Given the description of an element on the screen output the (x, y) to click on. 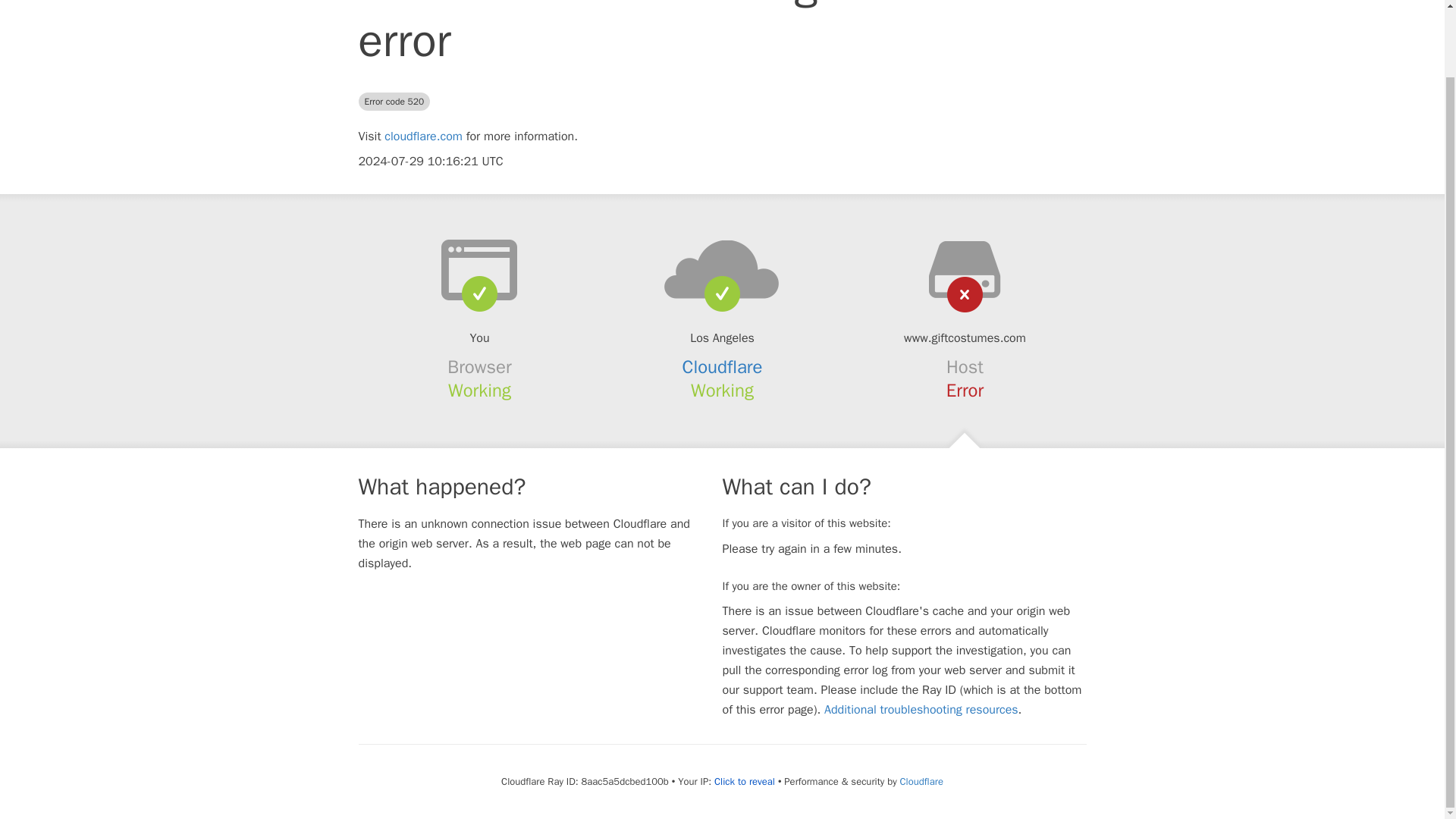
Cloudflare (921, 780)
cloudflare.com (423, 136)
Click to reveal (744, 781)
Additional troubleshooting resources (920, 709)
Cloudflare (722, 366)
